Given the description of an element on the screen output the (x, y) to click on. 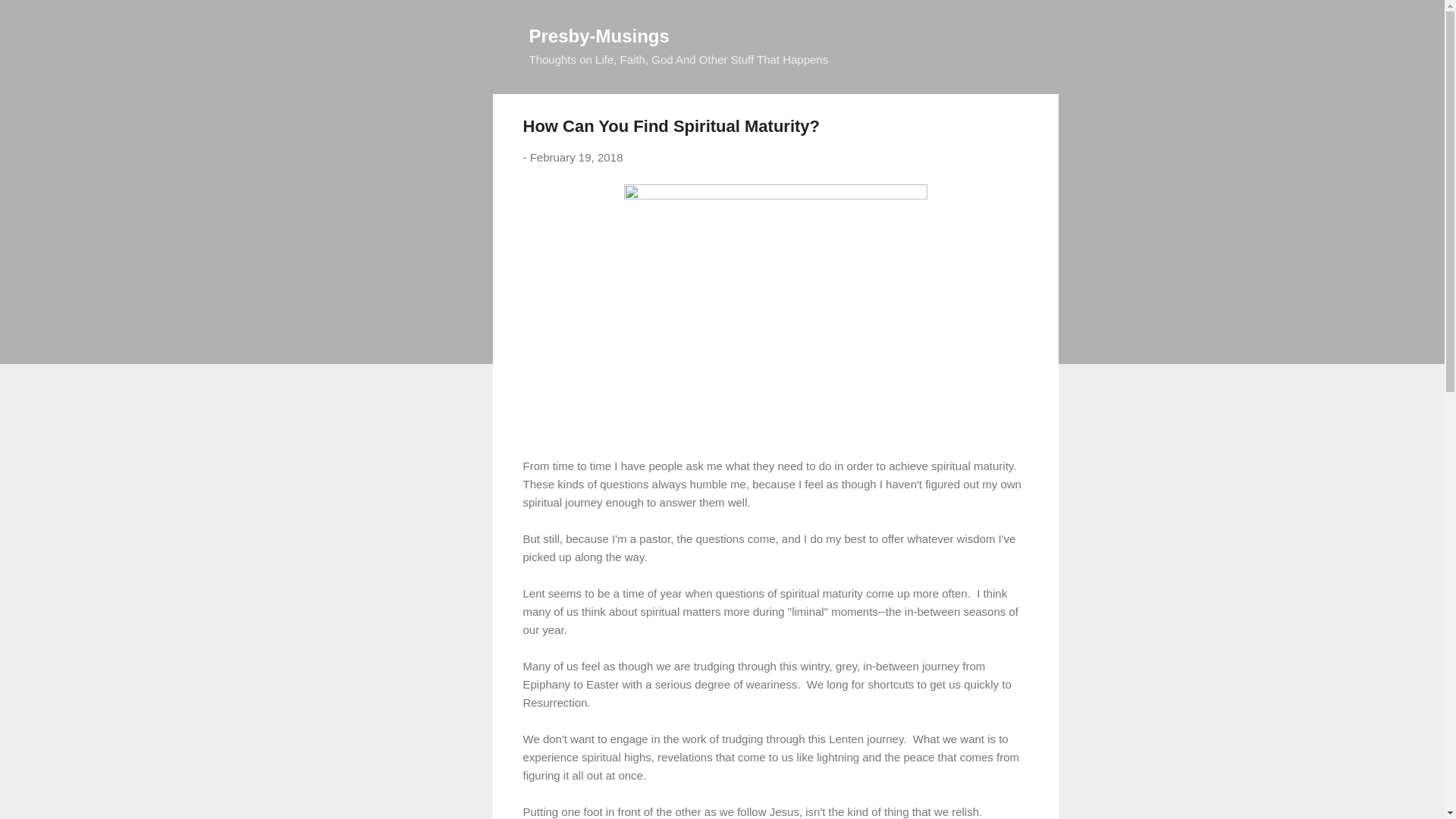
permanent link (576, 156)
Search (29, 18)
February 19, 2018 (576, 156)
Presby-Musings (599, 35)
